Given the description of an element on the screen output the (x, y) to click on. 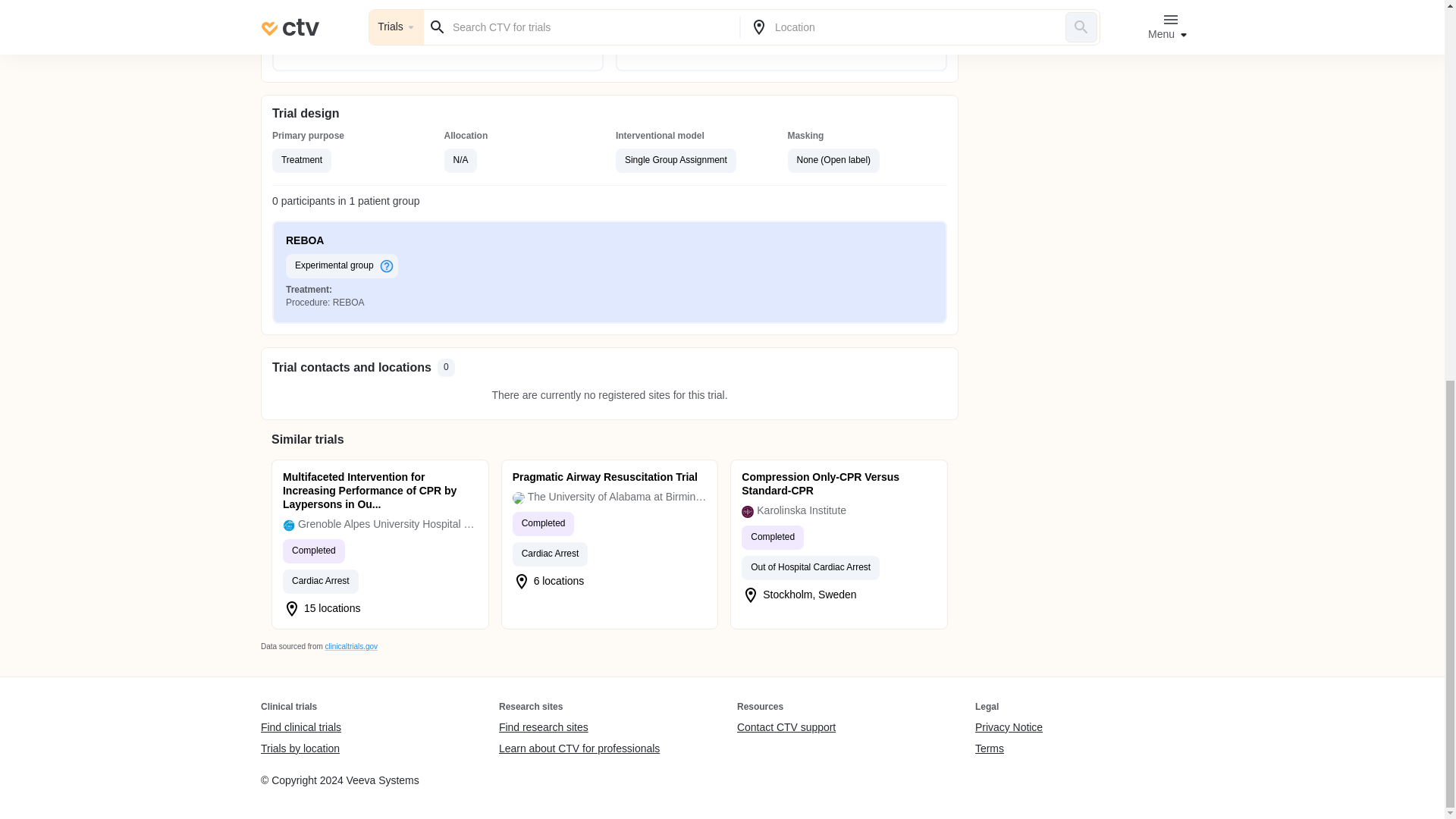
Terms (1008, 748)
Contact CTV support (785, 727)
Find clinical trials (300, 727)
clinicaltrials.gov (350, 646)
Learn about CTV for professionals (579, 748)
Trials by location (300, 748)
Privacy Notice (1008, 727)
Find research sites (579, 727)
